Given the description of an element on the screen output the (x, y) to click on. 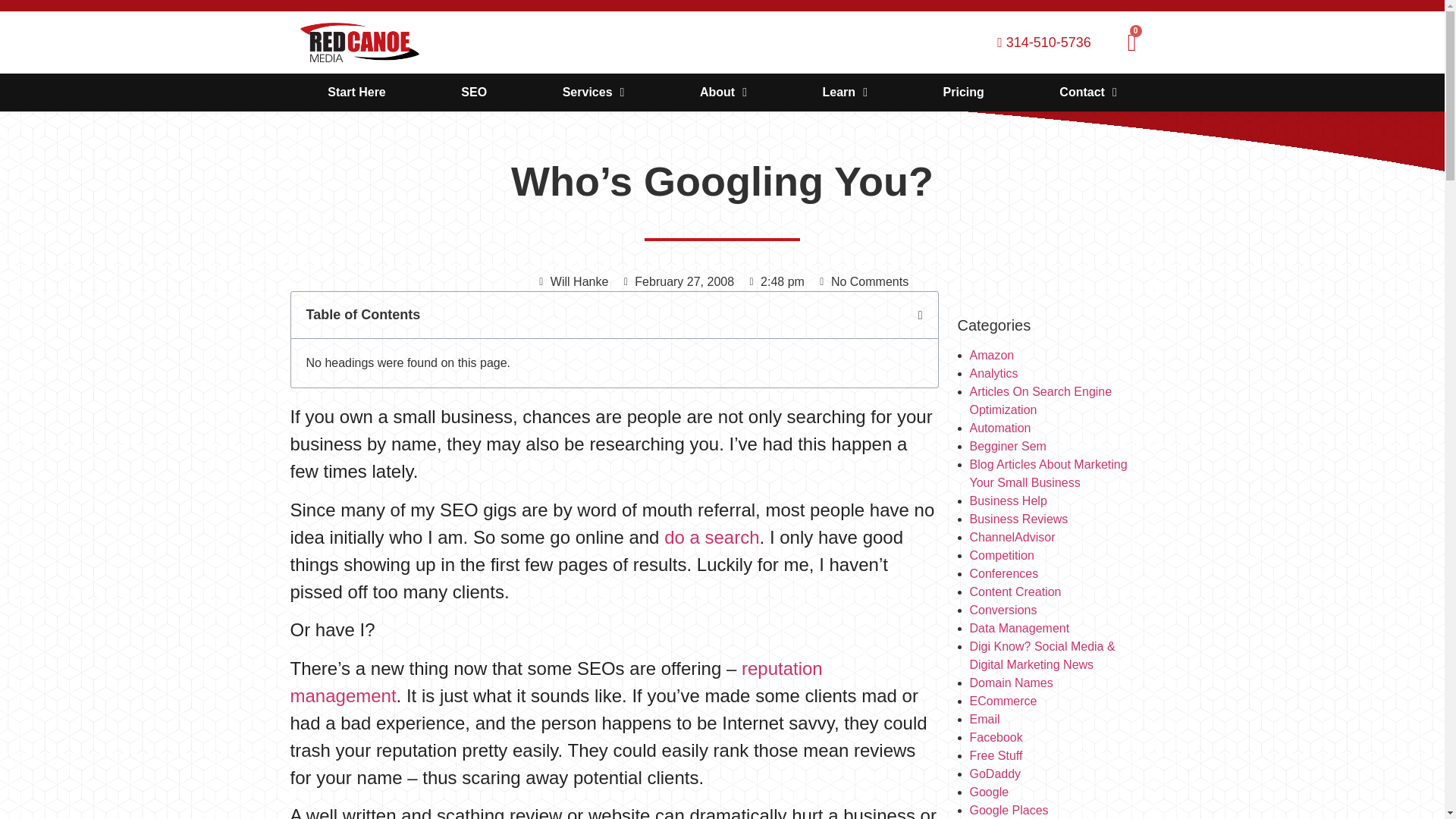
314-510-5736 (1037, 42)
0 (1131, 42)
